Given the description of an element on the screen output the (x, y) to click on. 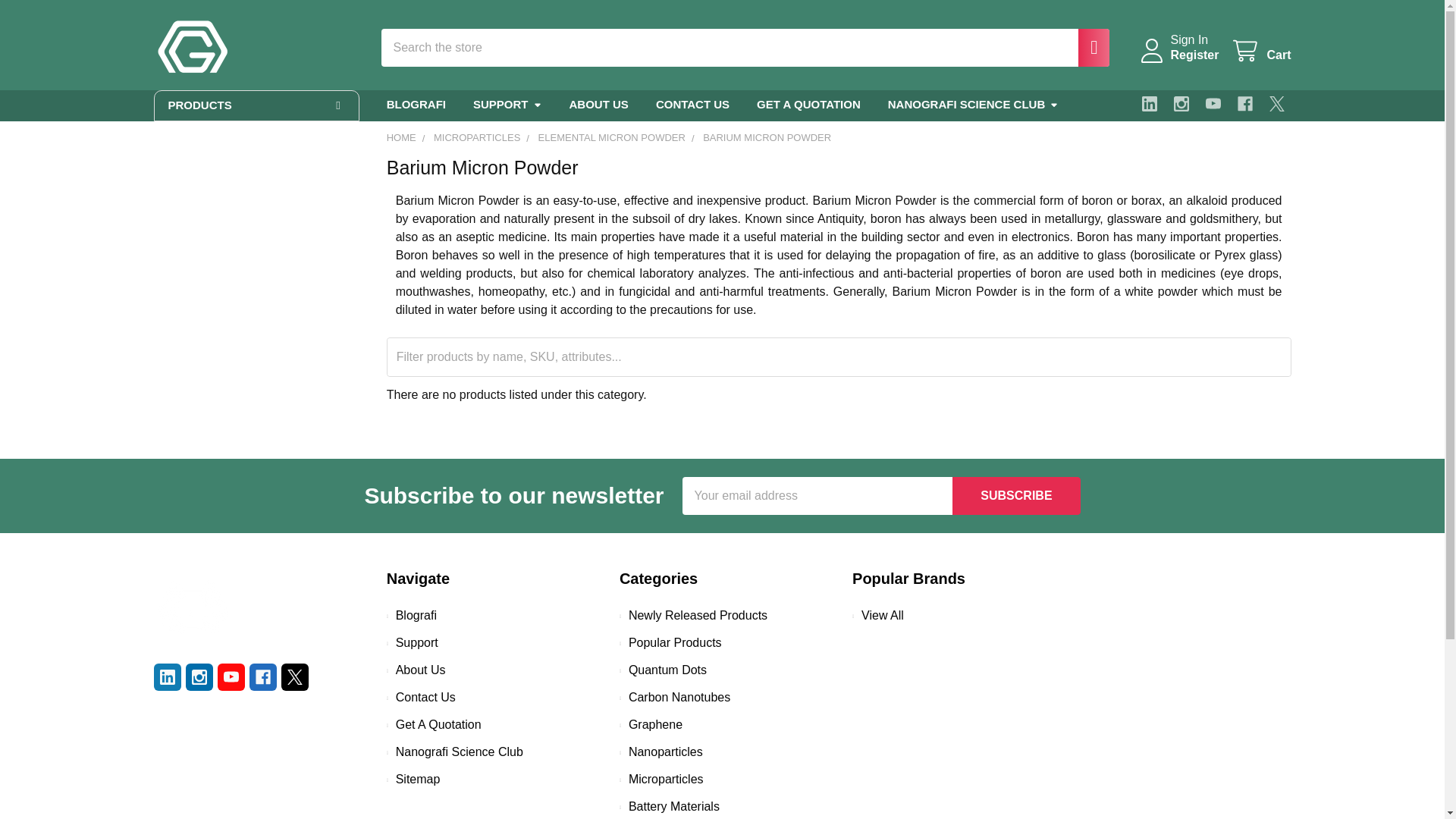
Nanografi Nano Technology (190, 606)
Facebook (1245, 103)
Search (1085, 47)
Cart (1260, 51)
Facebook (262, 676)
Youtube (230, 676)
Instagram (1181, 103)
Cart (1260, 51)
X (1276, 103)
Search (1085, 47)
